Given the description of an element on the screen output the (x, y) to click on. 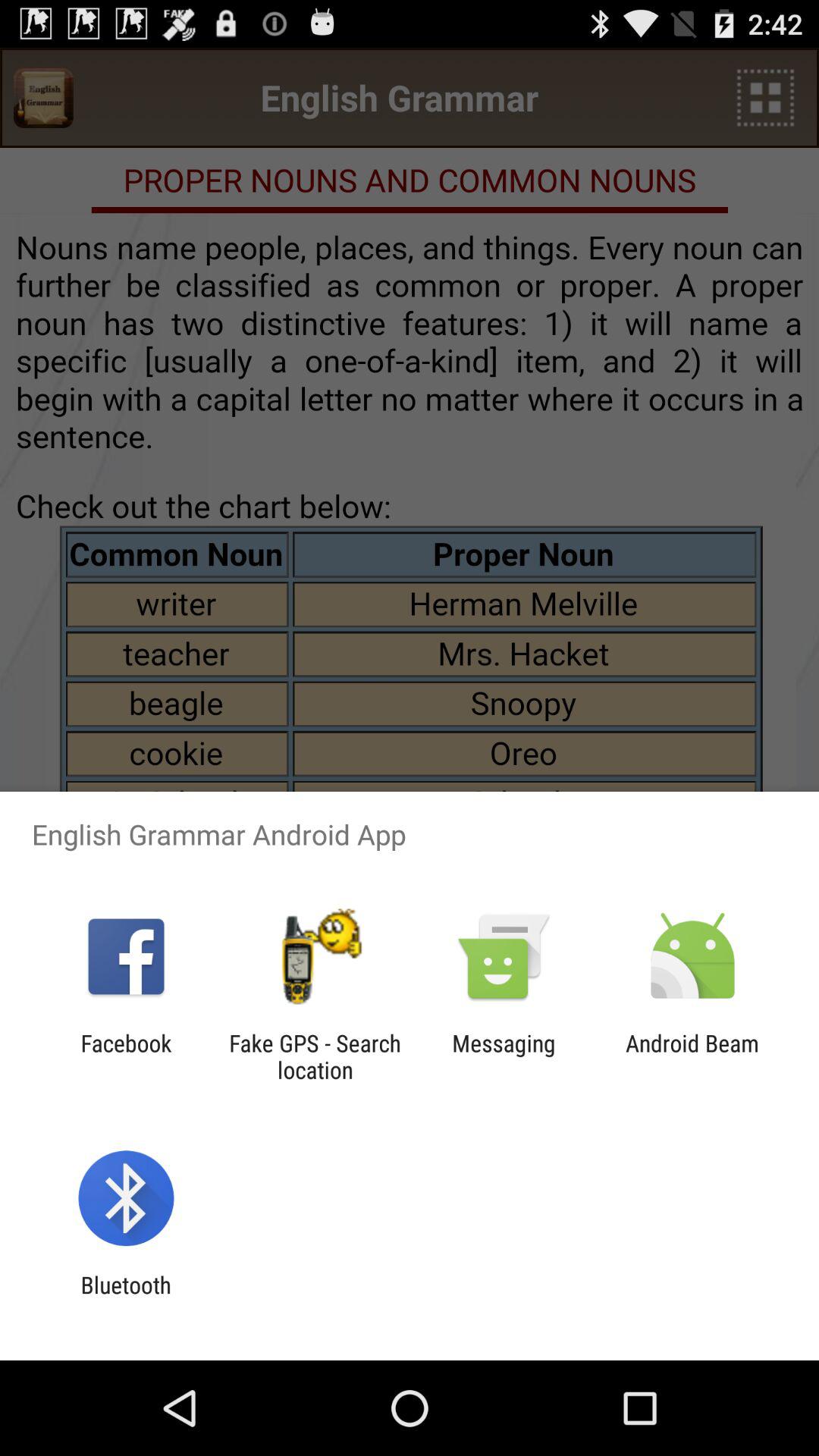
turn on the fake gps search app (314, 1056)
